Given the description of an element on the screen output the (x, y) to click on. 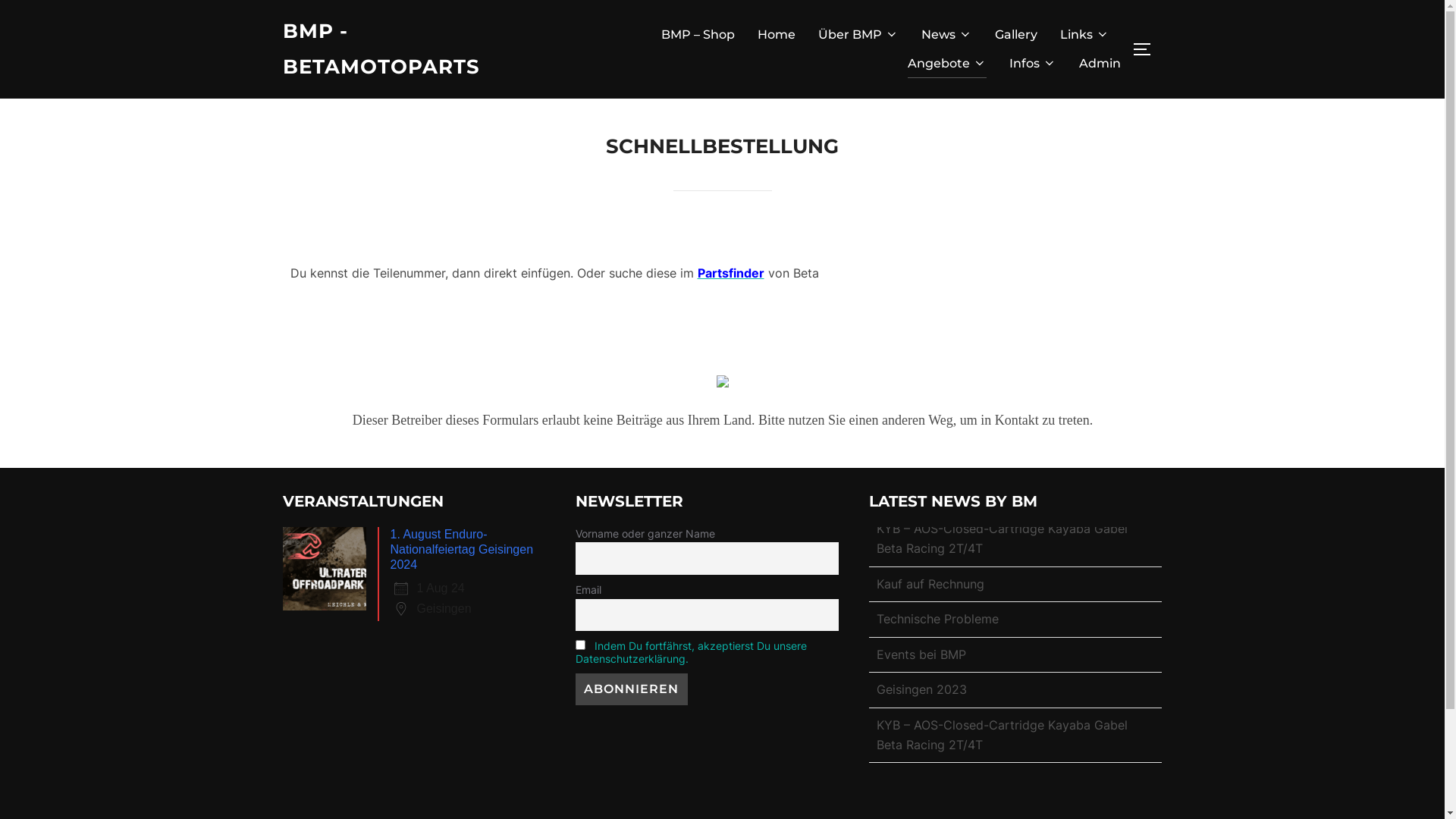
1. August Enduro-Nationalfeiertag Geisingen 2024 Element type: text (461, 549)
Kauf auf Rechnung Element type: text (930, 597)
Admin Element type: text (1099, 63)
Partsfinder Element type: text (730, 272)
Gallery Element type: text (1015, 34)
Infos Element type: text (1031, 63)
Angebote Element type: text (945, 63)
Abonnieren Element type: text (631, 688)
News Element type: text (945, 34)
BMP - BETAMOTOPARTS Element type: text (414, 48)
Home Element type: text (775, 34)
Events bei BMP Element type: text (921, 668)
SEITENLEISTE & NAVIGATION UMSCHALTEN Element type: text (1146, 48)
Links Element type: text (1084, 34)
Technische Probleme Element type: text (937, 633)
